Given the description of an element on the screen output the (x, y) to click on. 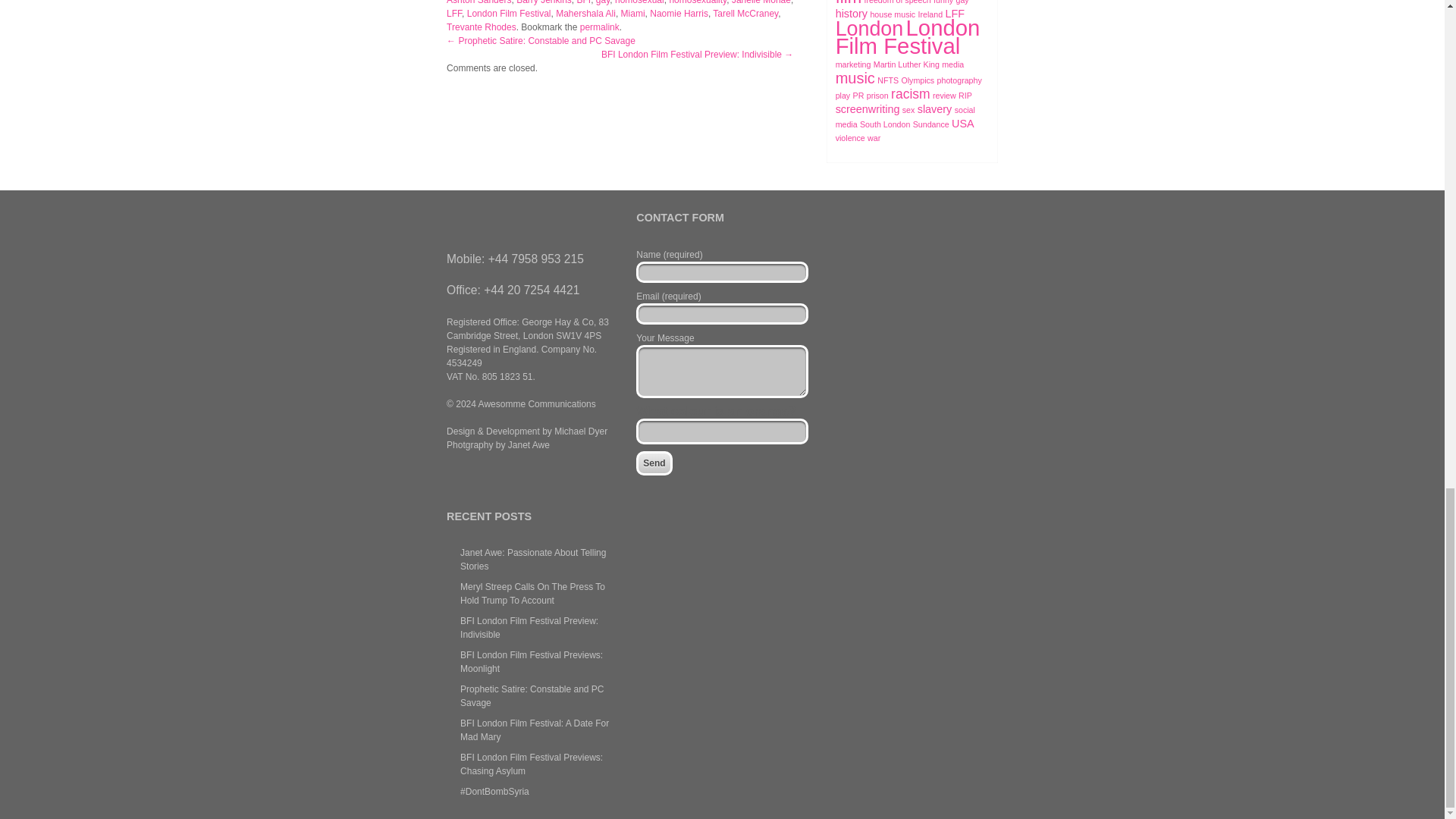
Barry Jenkins (544, 2)
homosexuality (697, 2)
Miami (633, 13)
Permalink to BFI London Film Festival Previews: Moonlight (599, 27)
gay (602, 2)
permalink (599, 27)
Send (653, 463)
Tarell McCraney (745, 13)
homosexual (638, 2)
Naomie Harris (678, 13)
